Given the description of an element on the screen output the (x, y) to click on. 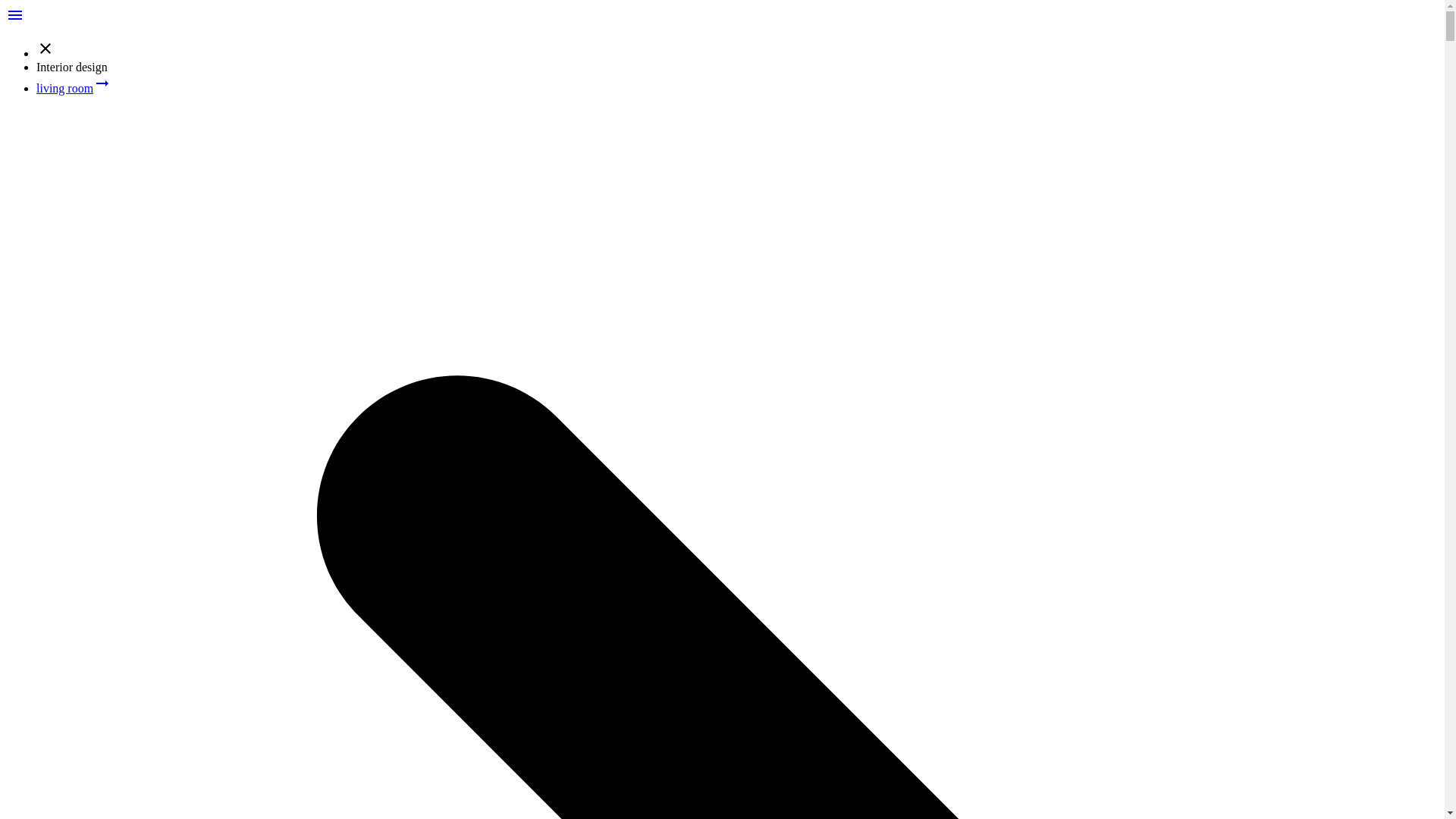
living room (64, 88)
